Given the description of an element on the screen output the (x, y) to click on. 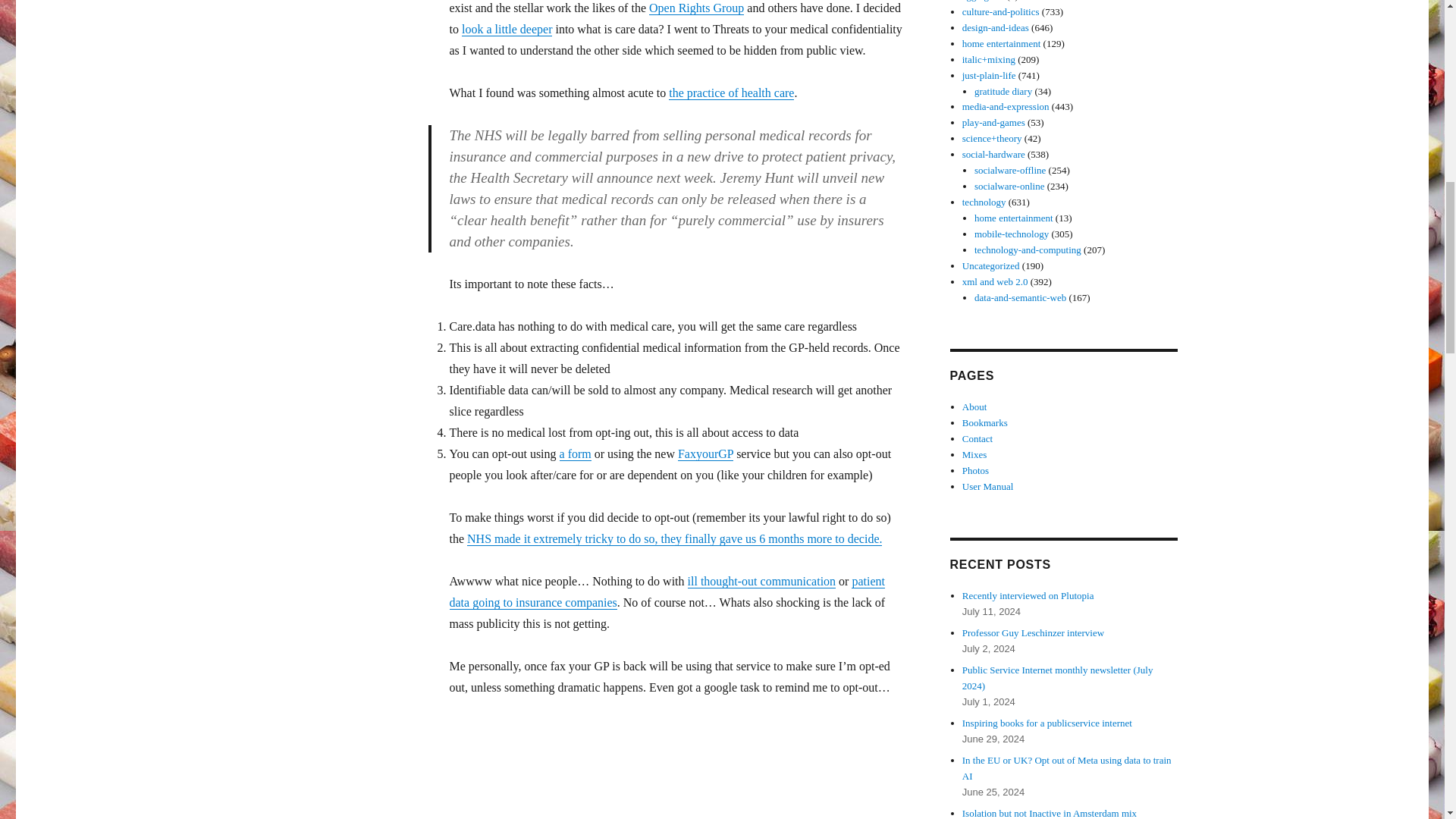
play-and-games (993, 122)
media-and-expression (1005, 106)
Open Rights Group (696, 7)
socialware-offline (1009, 170)
technology (984, 202)
social-hardware (993, 153)
patient data going to insurance companies (665, 591)
a form (575, 453)
look a little deeper (507, 29)
culture-and-politics (1000, 11)
gratitude diary (1003, 90)
the practice of health care (730, 92)
ill thought-out communication (761, 581)
design-and-ideas (995, 27)
just-plain-life (989, 75)
